Given the description of an element on the screen output the (x, y) to click on. 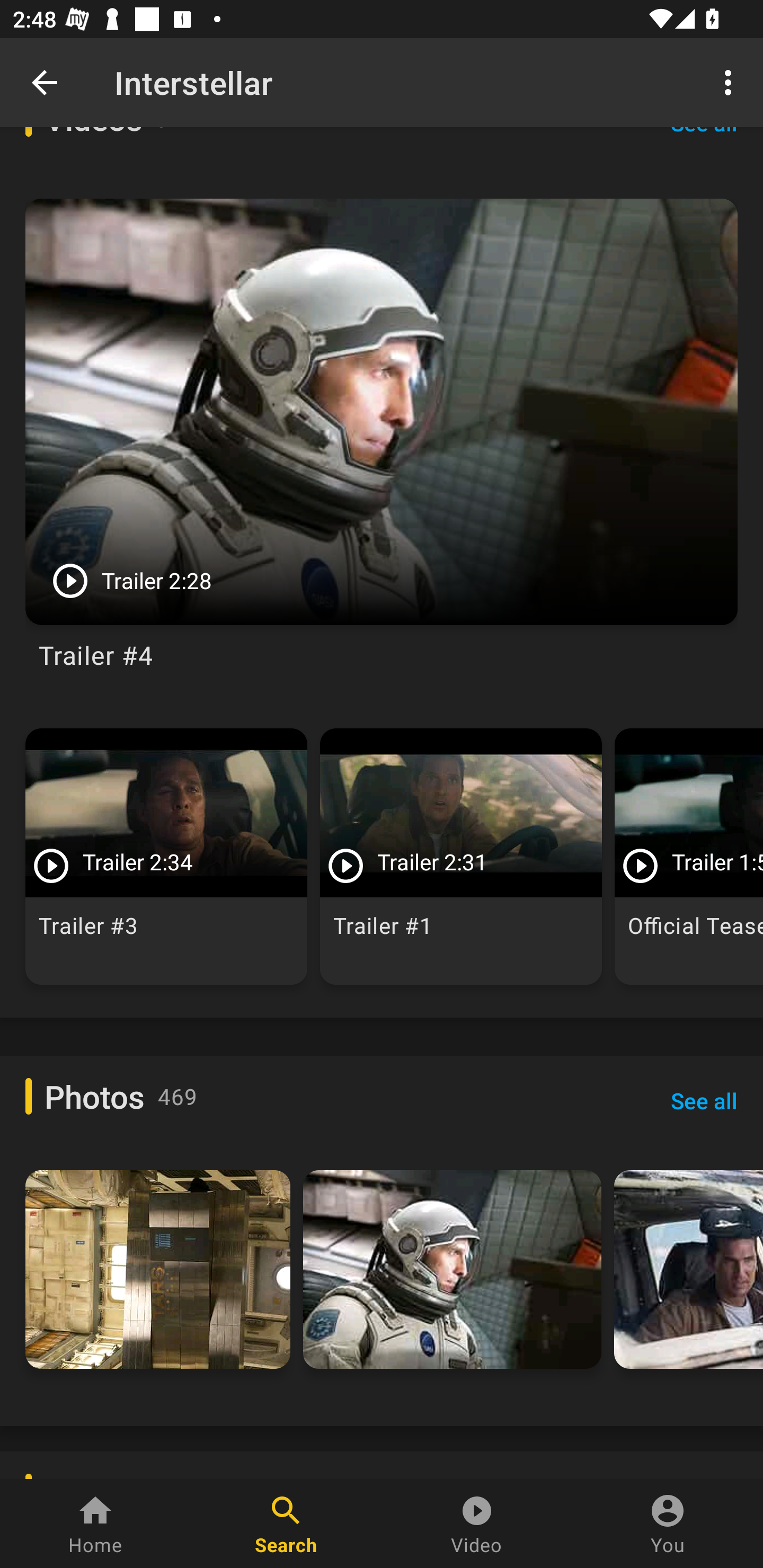
More options (731, 81)
Trailer 2:28 Trailer #4 (381, 440)
Trailer 2:34 Trailer #3 (166, 856)
Trailer 2:31 Trailer #1 (460, 856)
Trailer 1:52 Official Teaser (688, 856)
See all See all Photos (703, 1100)
Home (95, 1523)
Video (476, 1523)
You (667, 1523)
